Given the description of an element on the screen output the (x, y) to click on. 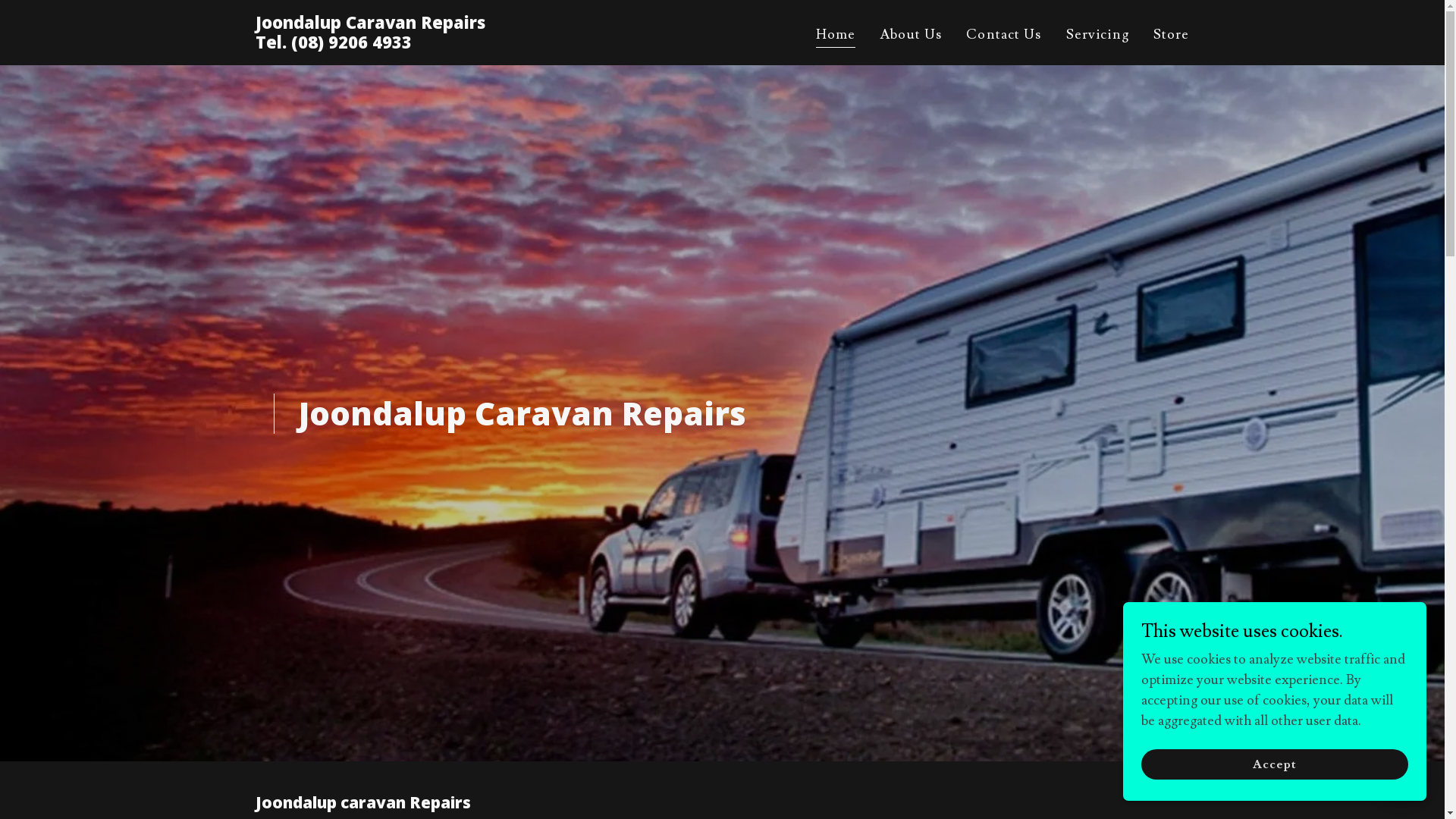
Contact Us Element type: text (1003, 34)
Home Element type: text (835, 36)
Servicing Element type: text (1097, 34)
Store Element type: text (1171, 34)
Accept Element type: text (1274, 764)
About Us Element type: text (910, 34)
Joondalup Caravan Repairs
Tel. (08) 9206 4933 Element type: text (369, 44)
